Given the description of an element on the screen output the (x, y) to click on. 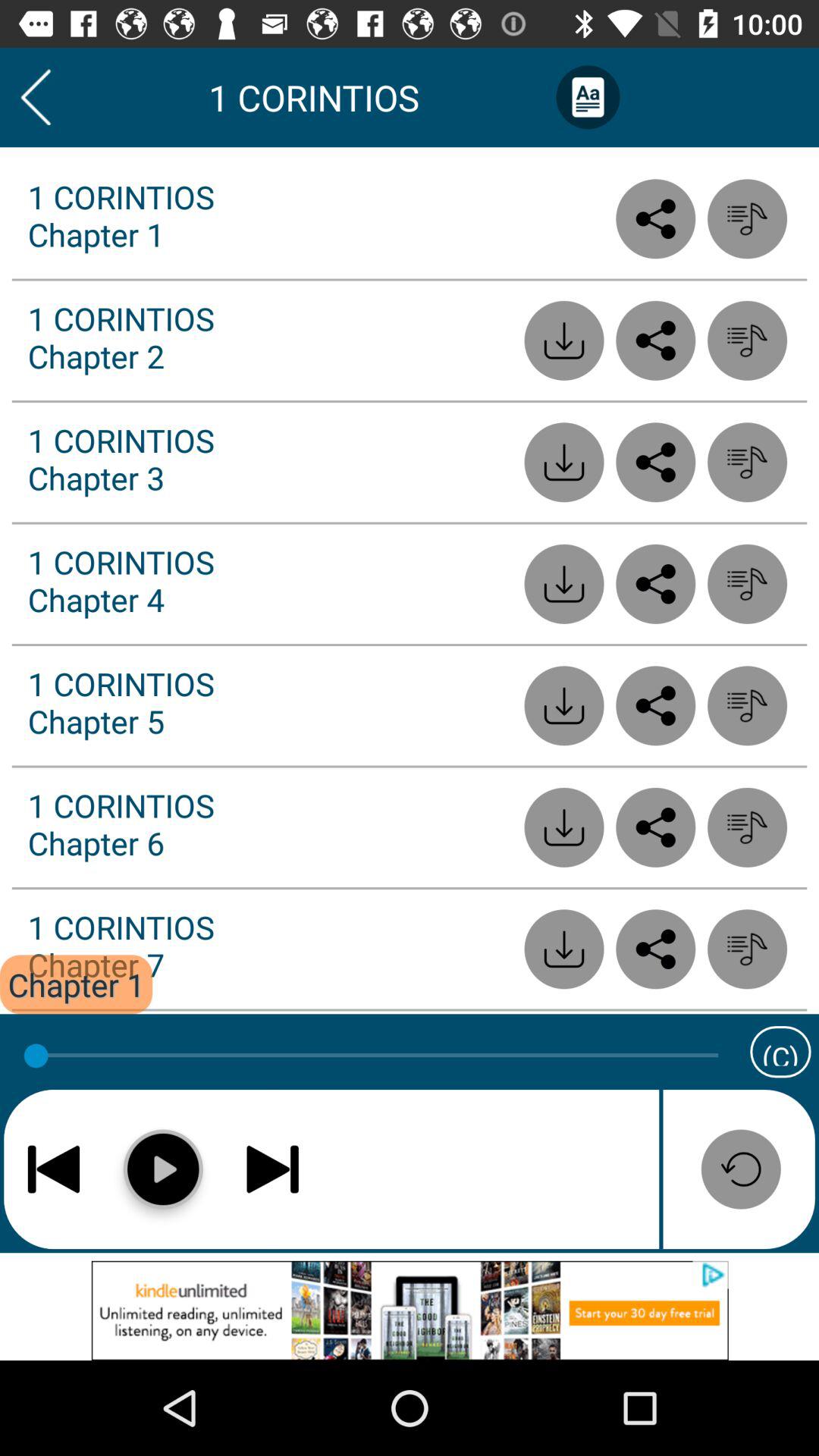
open advertisement (409, 1310)
